Given the description of an element on the screen output the (x, y) to click on. 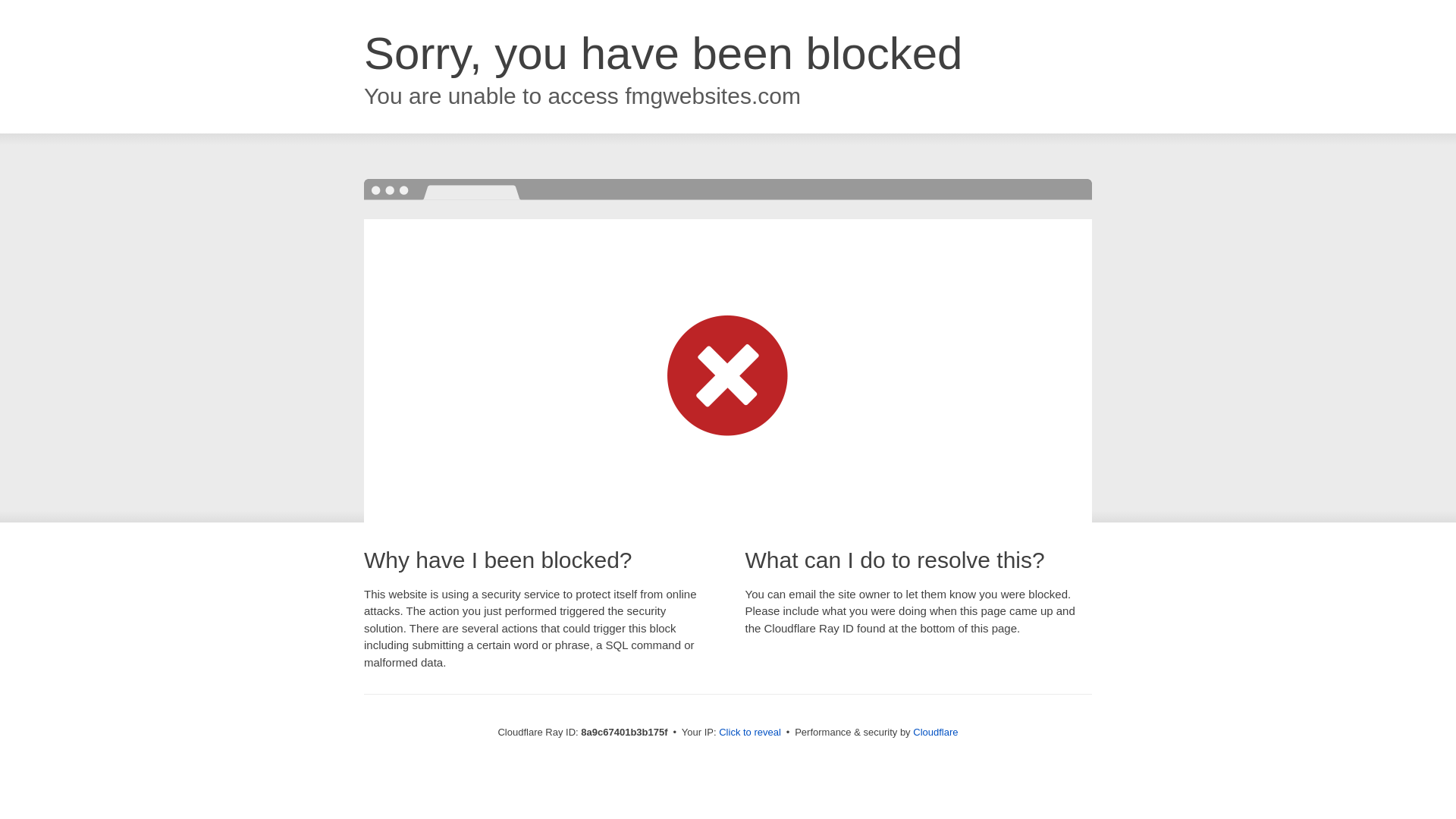
Click to reveal (749, 732)
Cloudflare (935, 731)
